Given the description of an element on the screen output the (x, y) to click on. 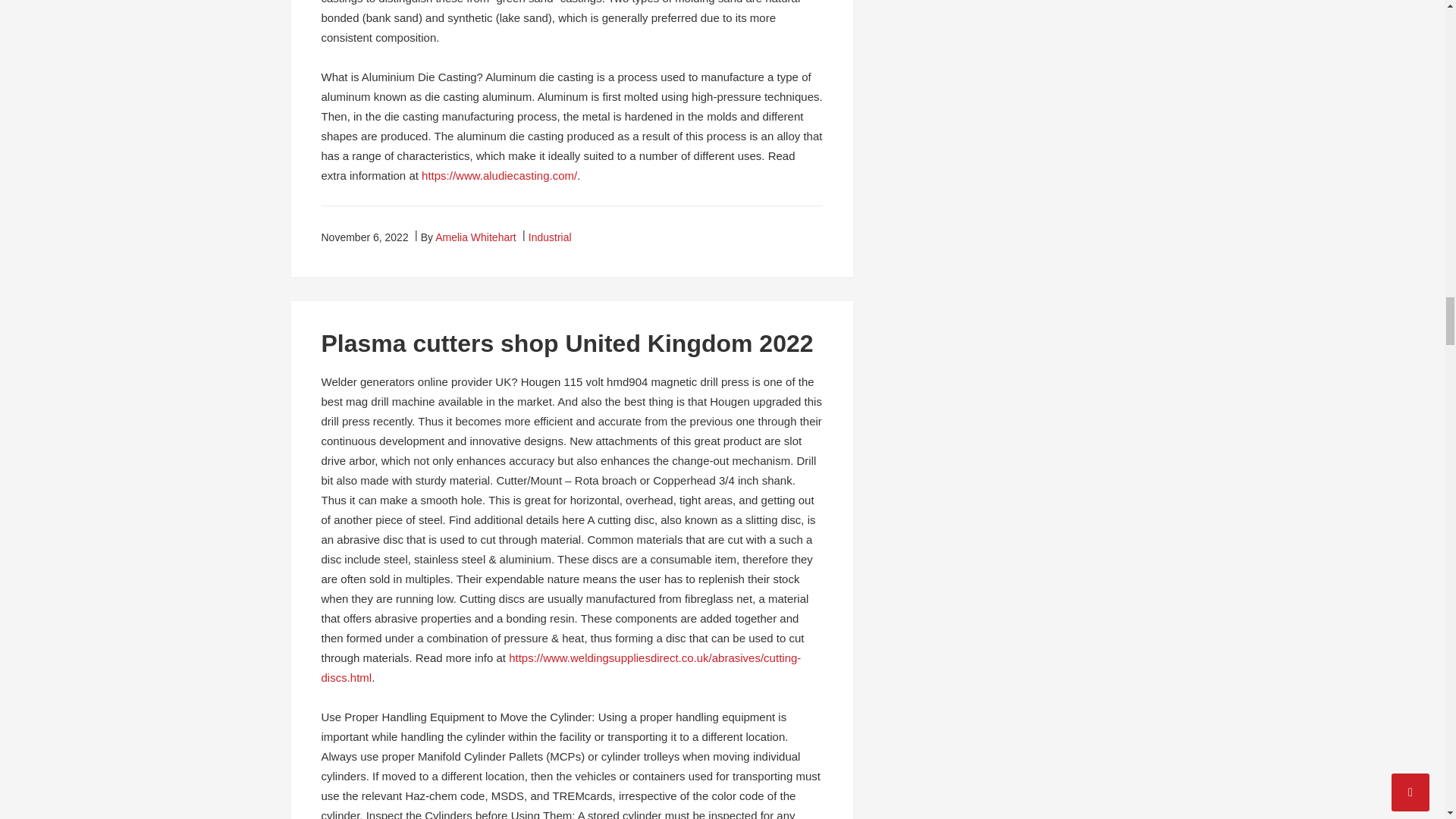
View all posts by Amelia Whitehart (475, 236)
Amelia Whitehart (475, 236)
Plasma cutters shop United Kingdom 2022 (567, 343)
Industrial (550, 236)
